Given the description of an element on the screen output the (x, y) to click on. 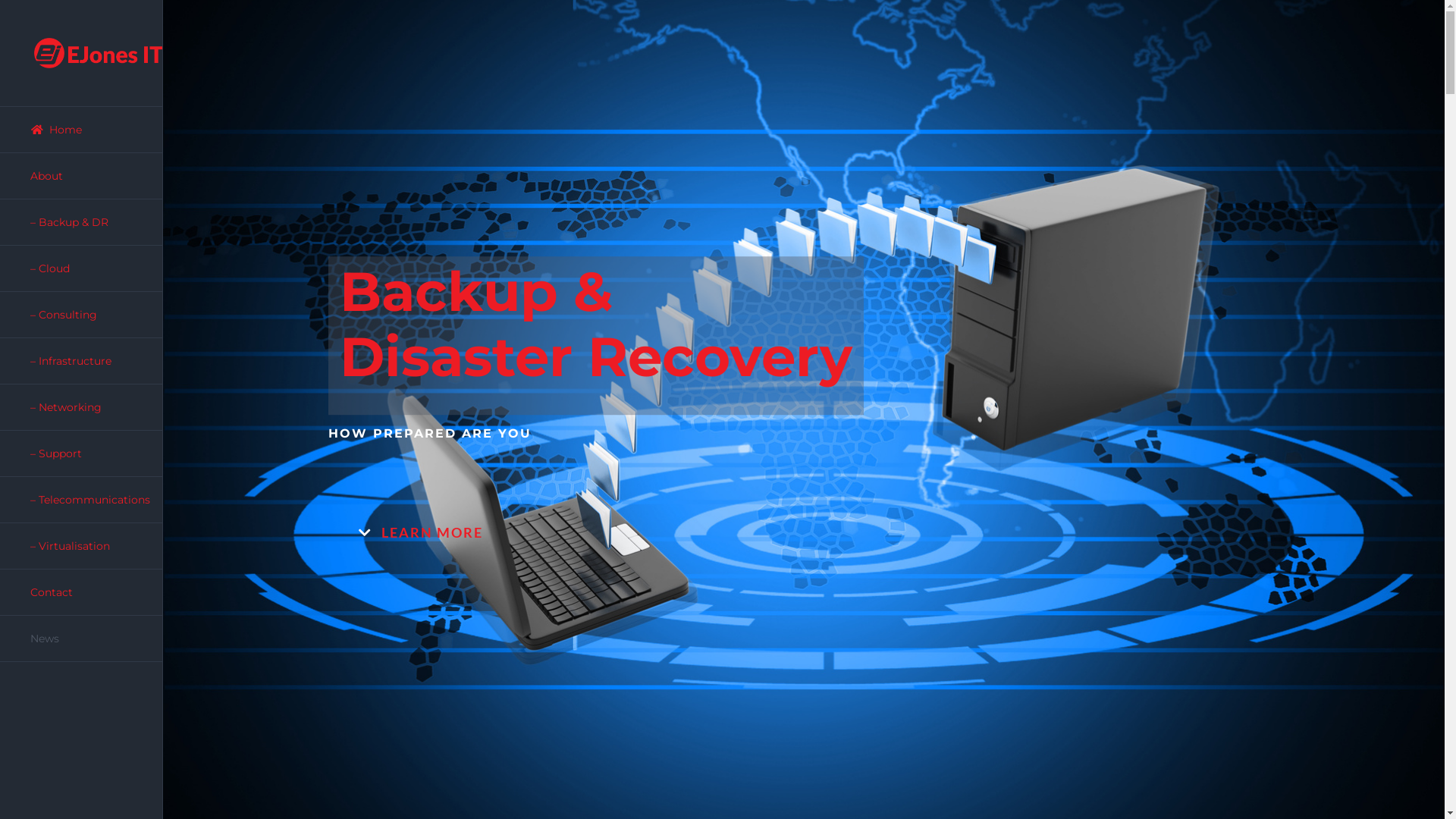
Home Element type: text (81, 129)
News Element type: text (81, 638)
About Element type: text (81, 176)
Contact Element type: text (81, 592)
